Given the description of an element on the screen output the (x, y) to click on. 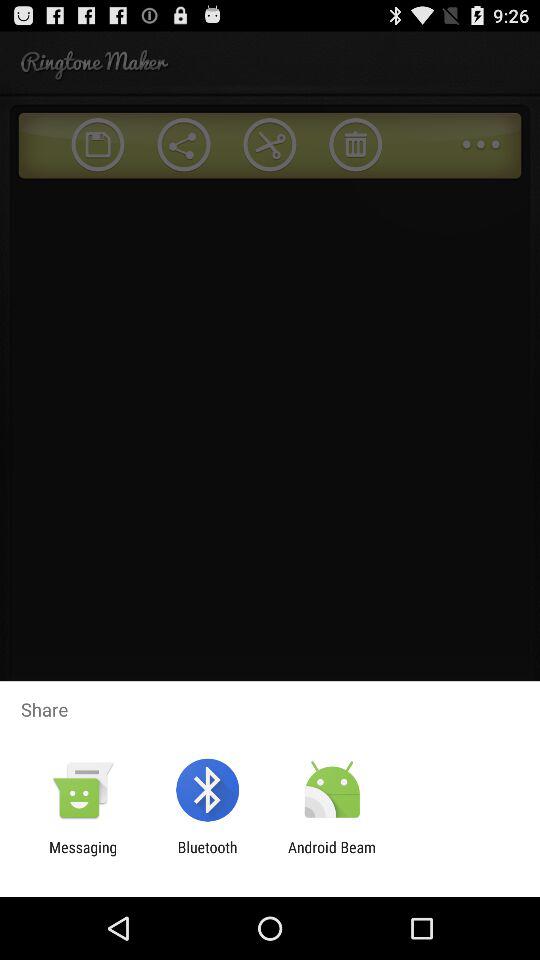
choose app to the right of messaging item (207, 856)
